Given the description of an element on the screen output the (x, y) to click on. 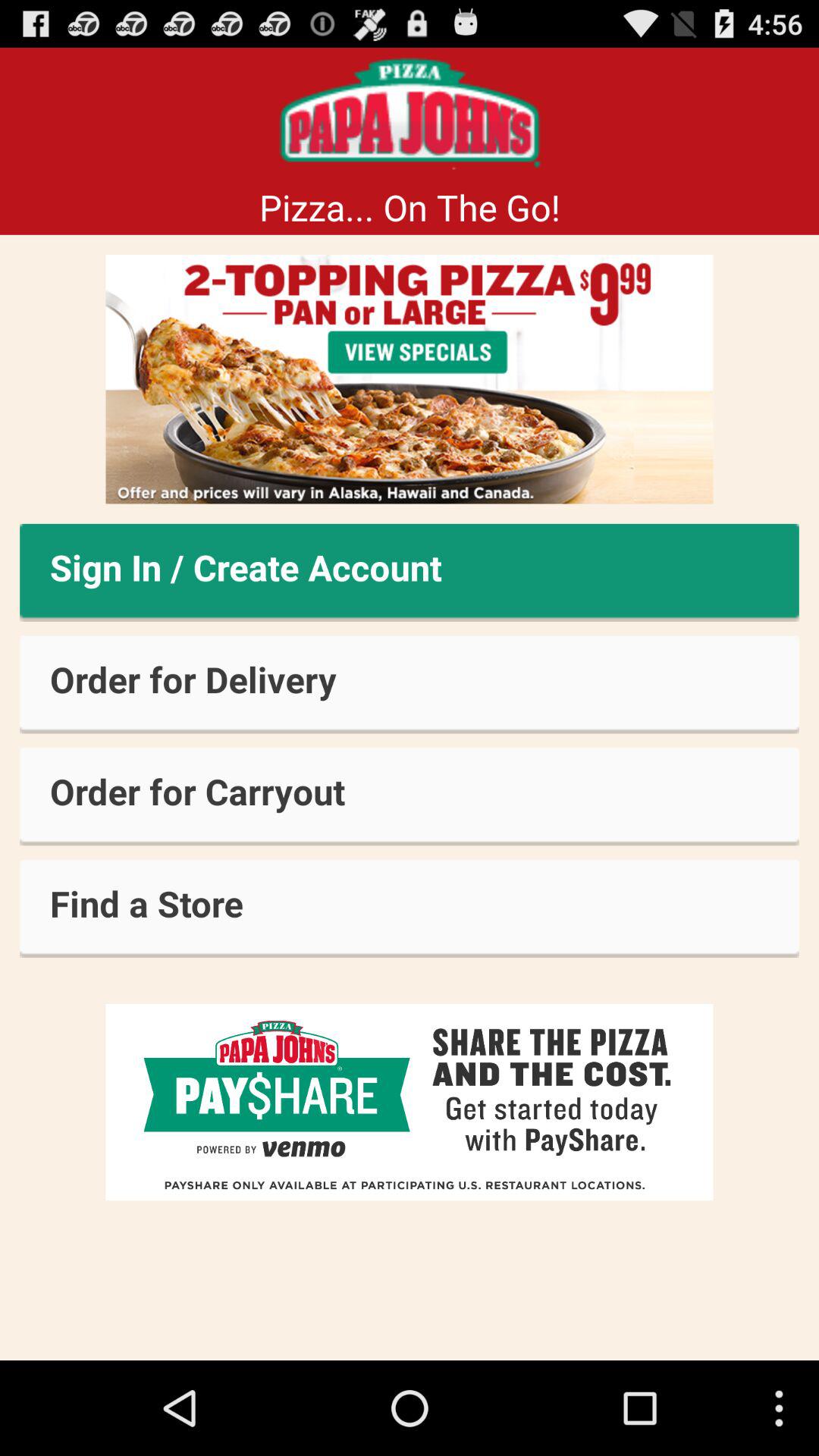
turn on button below order for carryout item (409, 908)
